Given the description of an element on the screen output the (x, y) to click on. 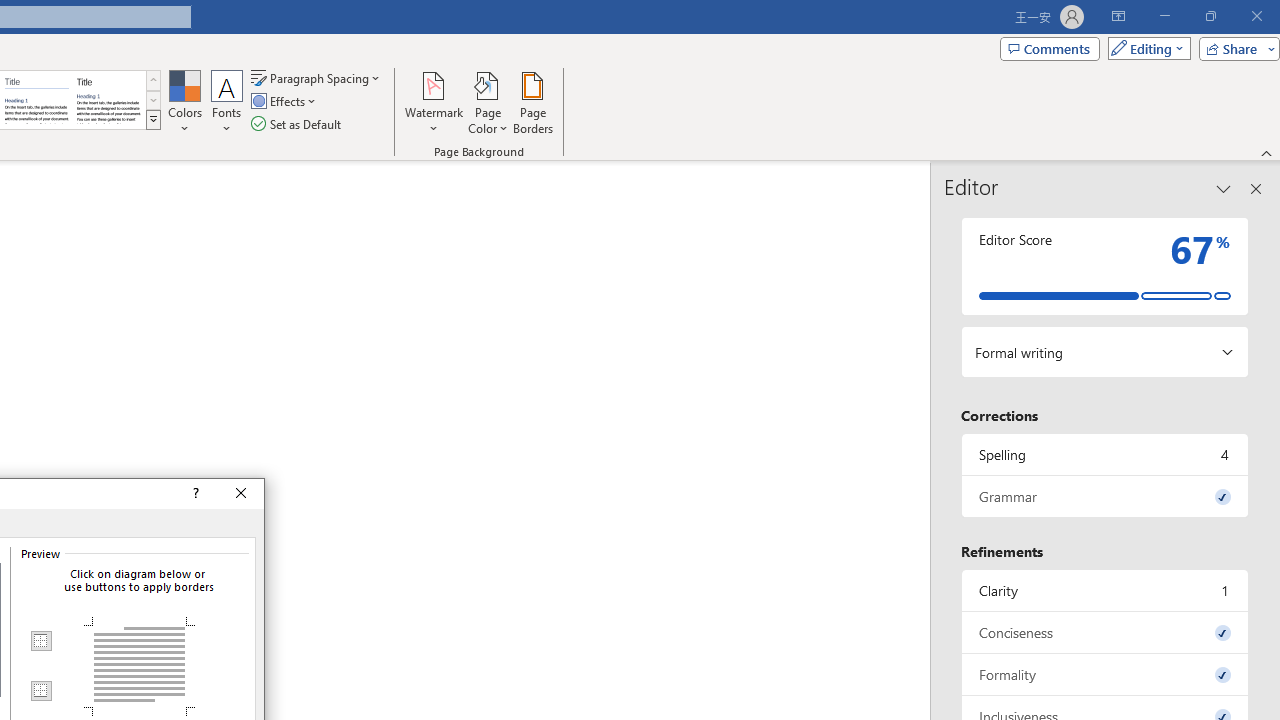
Top Border (40, 641)
Effects (285, 101)
Conciseness, 0 issues. Press space or enter to review items. (1105, 632)
Paragraph Spacing (317, 78)
Page Borders... (532, 102)
Fonts (227, 102)
Word 2010 (36, 100)
Context help (194, 493)
